Given the description of an element on the screen output the (x, y) to click on. 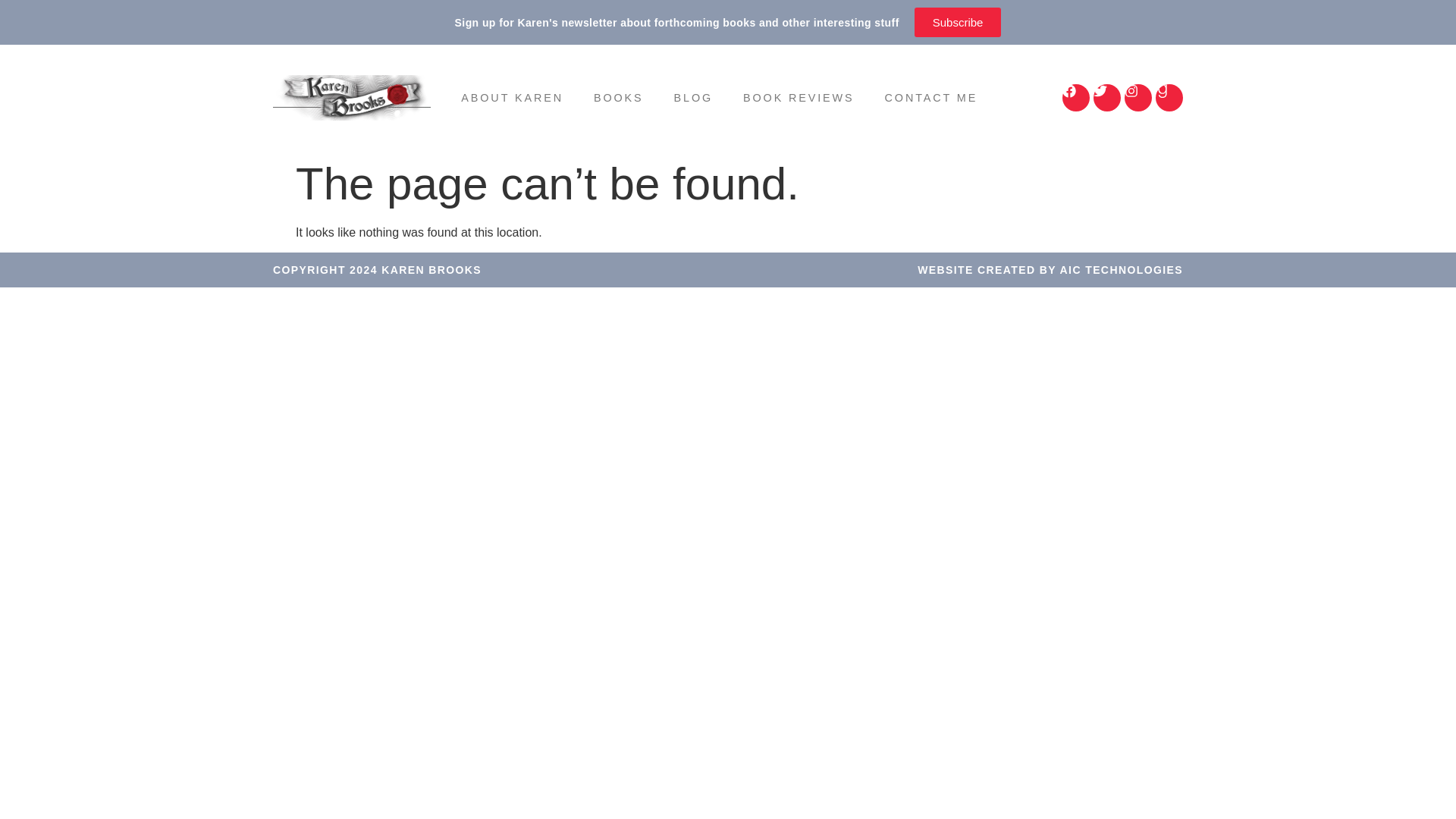
AIC TECHNOLOGIES (1120, 269)
CONTACT ME (930, 97)
BOOKS (618, 97)
BOOK REVIEWS (798, 97)
ABOUT KAREN (511, 97)
BLOG (694, 97)
Subscribe (957, 21)
